Given the description of an element on the screen output the (x, y) to click on. 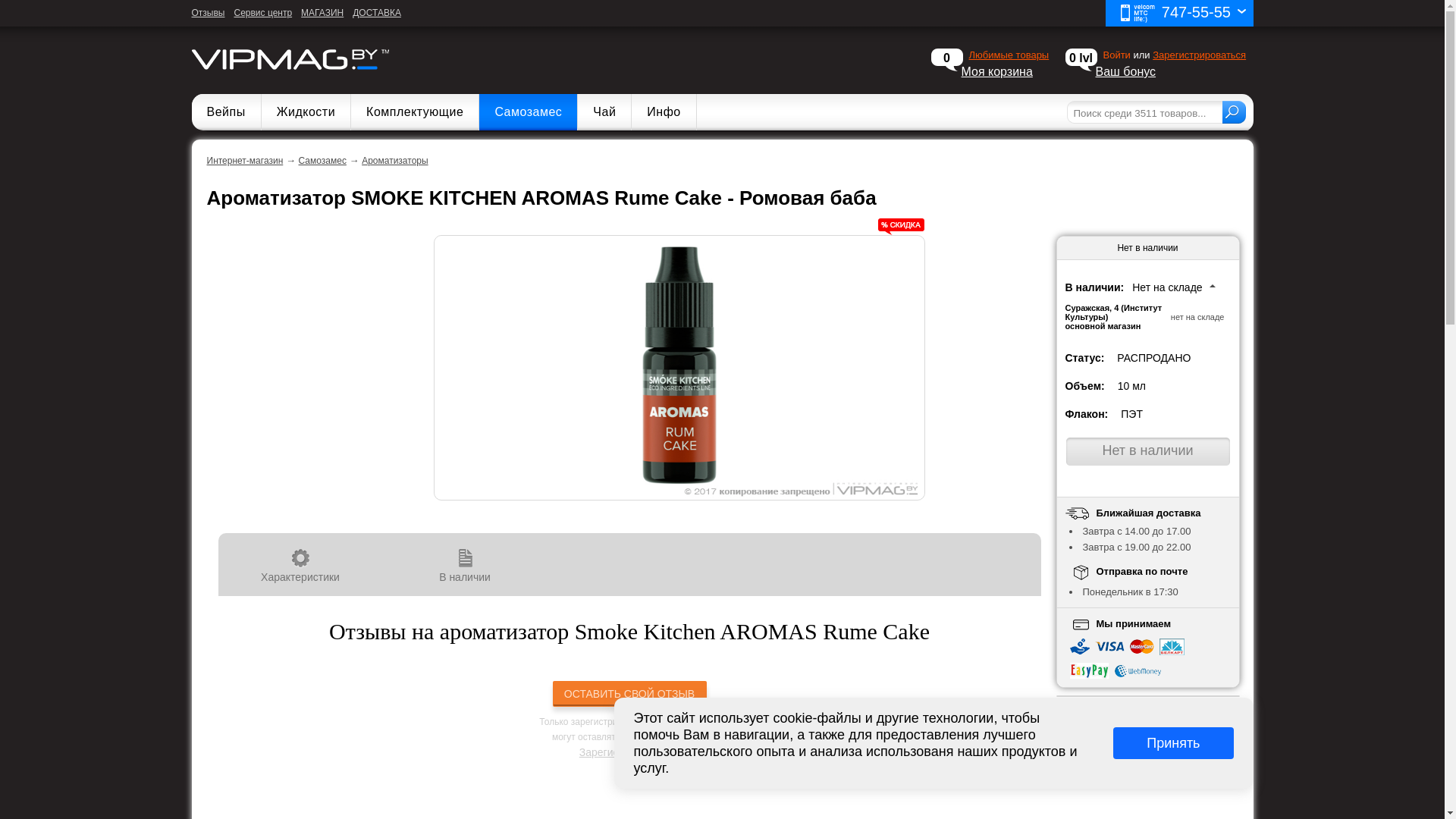
747-55-55 Element type: text (1178, 13)
